Given the description of an element on the screen output the (x, y) to click on. 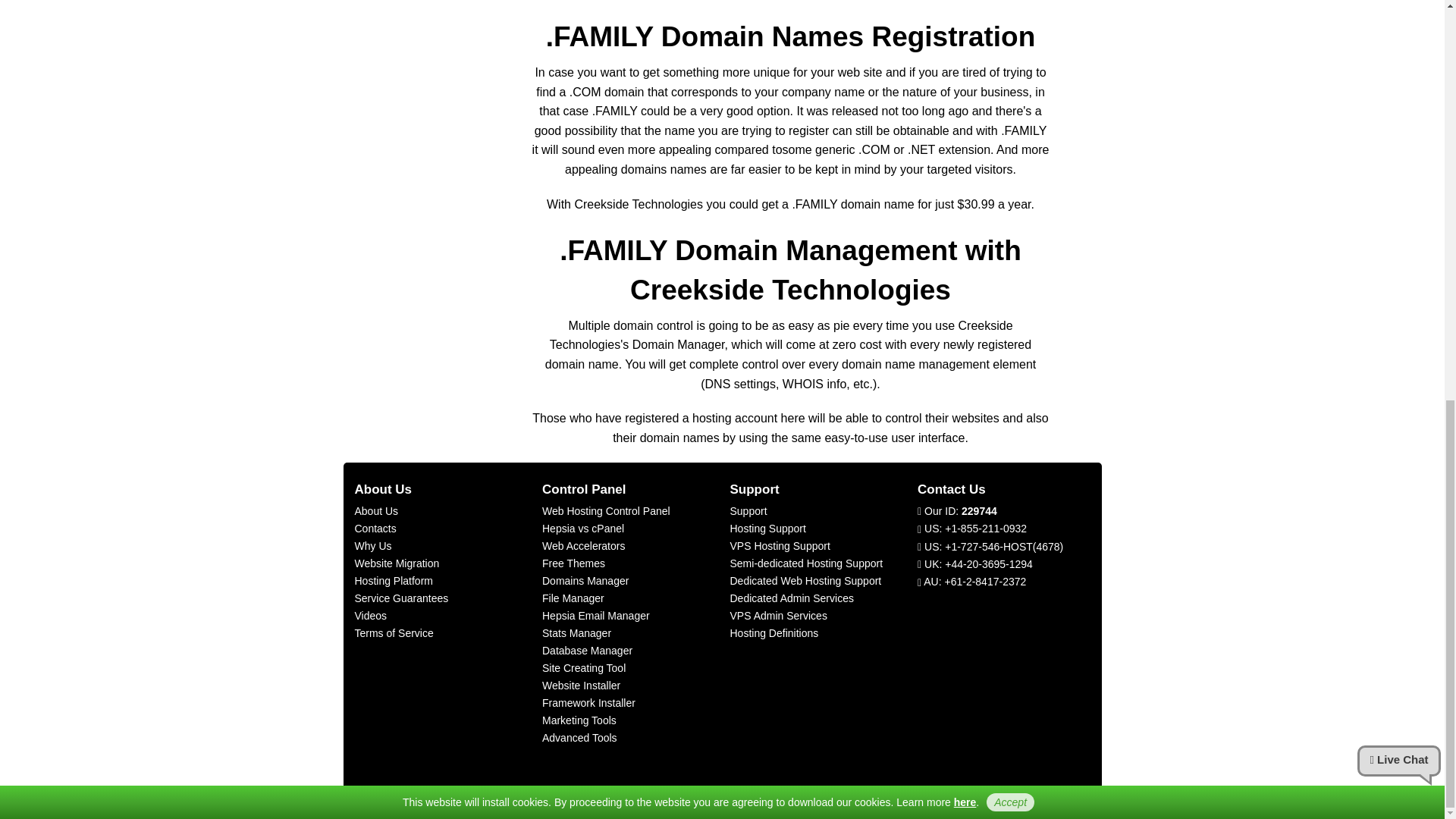
Privacy Policy (964, 19)
Service Guarantees (401, 598)
About Us (376, 510)
Website Migration (397, 563)
Hosting Platform (393, 580)
Contacts (375, 528)
Why Us (373, 545)
